Given the description of an element on the screen output the (x, y) to click on. 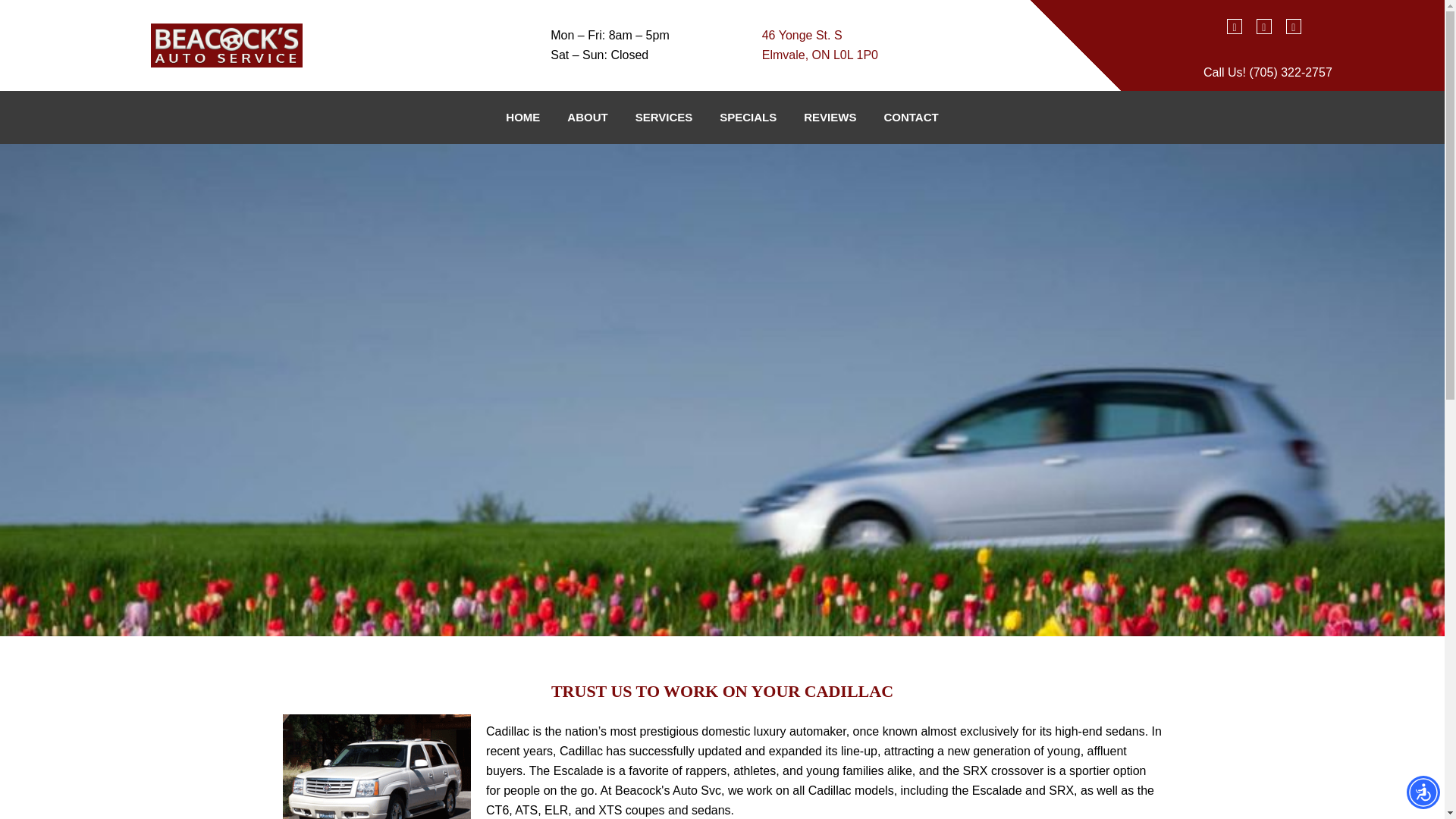
ABOUT (586, 117)
Accessibility Menu (1422, 792)
Elmvale, ON L0L 1P0 (819, 54)
CONTACT (910, 117)
SERVICES (663, 117)
REVIEWS (829, 117)
HOME (522, 117)
46 Yonge St. S (802, 34)
SPECIALS (748, 117)
